Given the description of an element on the screen output the (x, y) to click on. 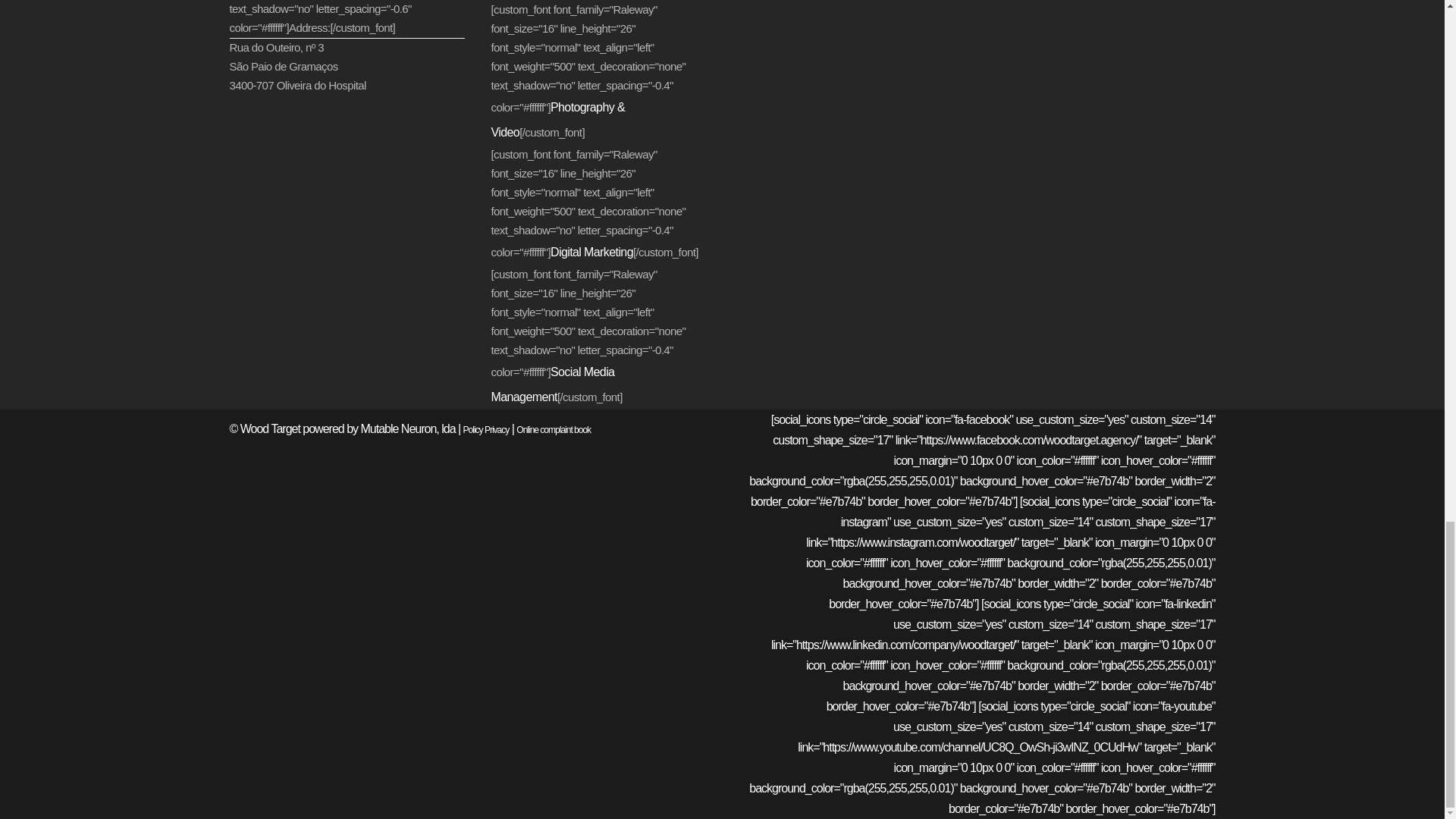
Policy Privacy (486, 429)
Social Media Management (553, 384)
Online complaint book (553, 429)
Digital Marketing (591, 251)
